Given the description of an element on the screen output the (x, y) to click on. 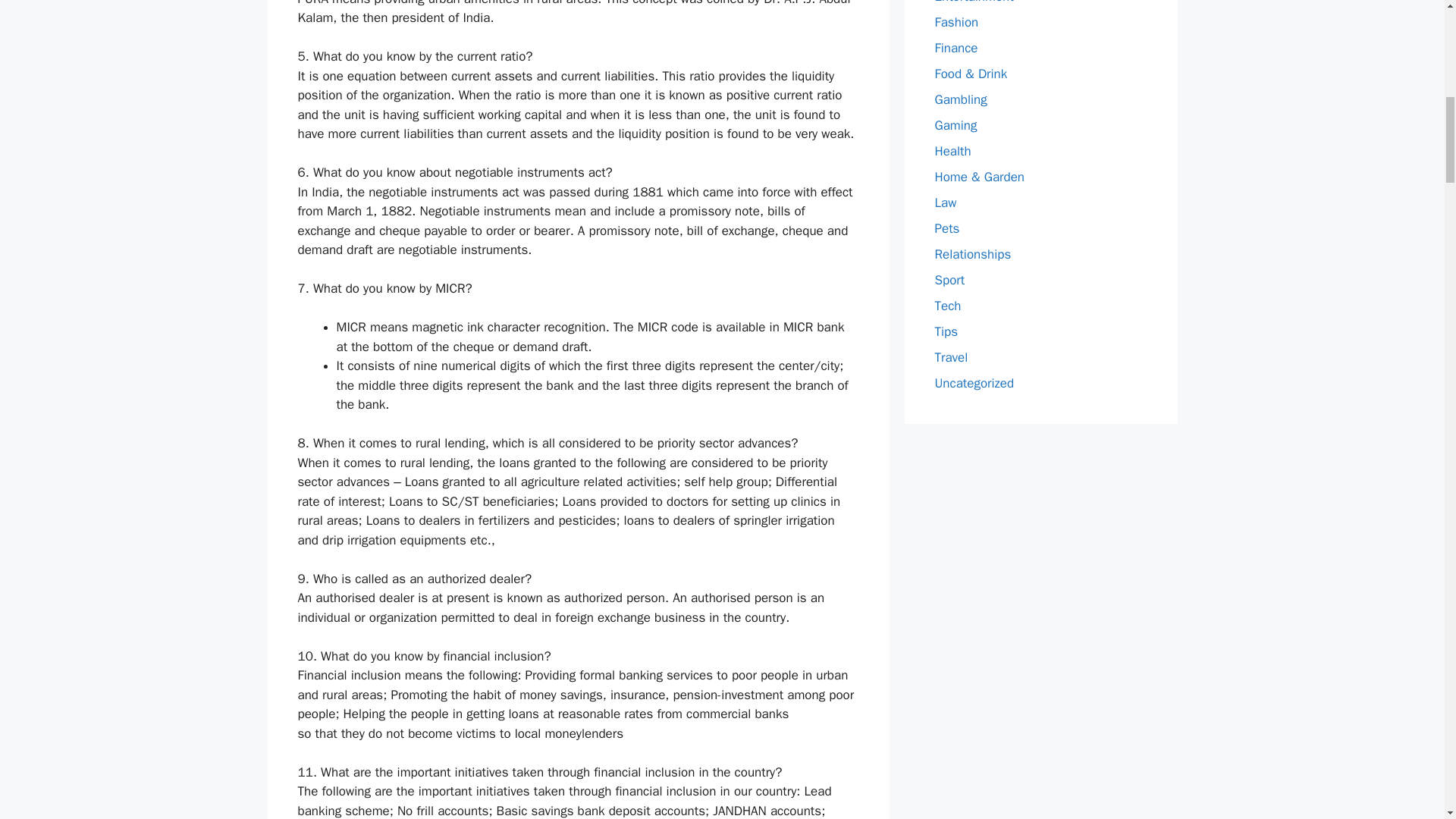
Finance (955, 48)
Entertainment (973, 2)
Fashion (956, 22)
Gambling (960, 99)
